Given the description of an element on the screen output the (x, y) to click on. 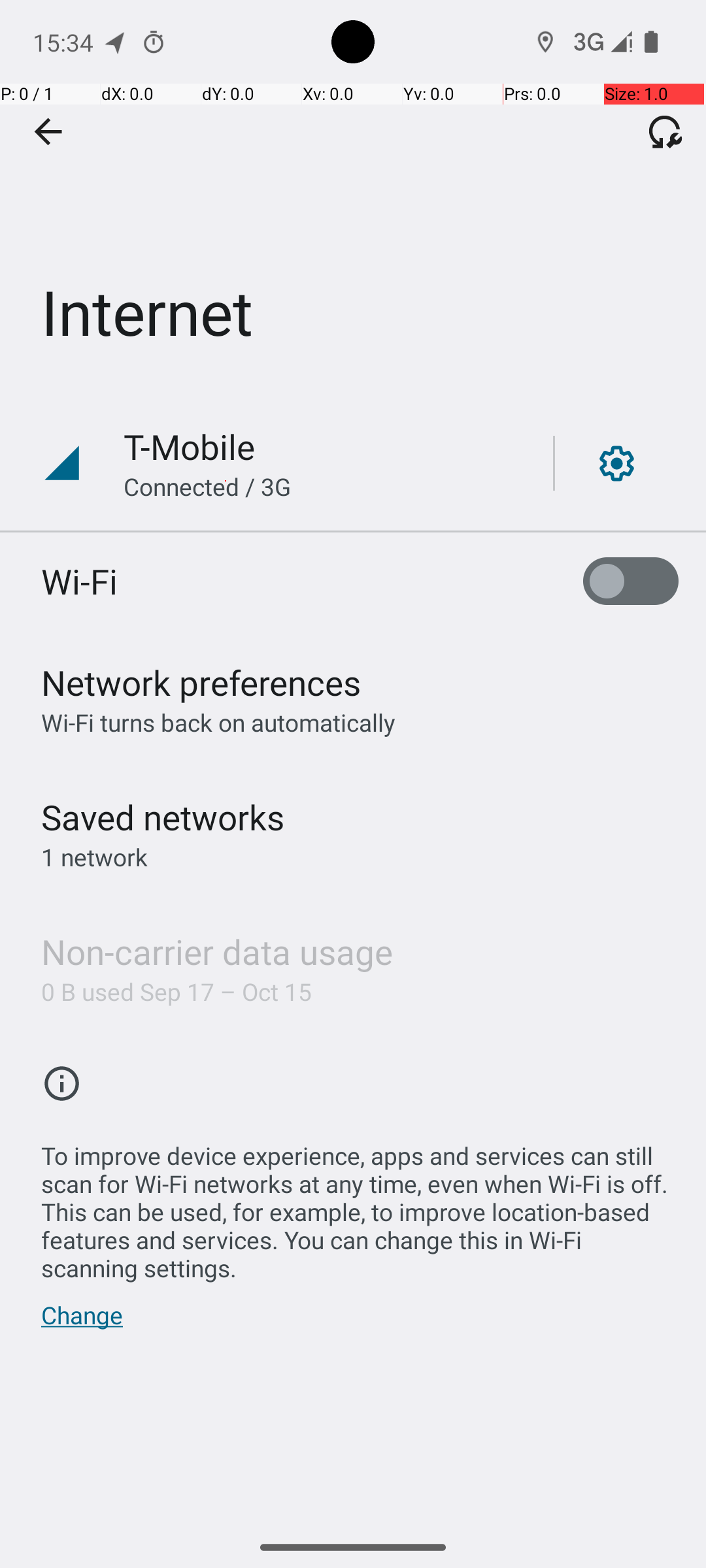
Fix connectivity Element type: android.widget.TextView (664, 131)
Connected / 3G Element type: android.widget.TextView (206, 486)
Network preferences Element type: android.widget.TextView (201, 682)
Wi‑Fi turns back on automatically Element type: android.widget.TextView (218, 721)
Saved networks Element type: android.widget.TextView (163, 816)
1 network Element type: android.widget.TextView (94, 856)
Non-carrier data usage Element type: android.widget.TextView (216, 951)
0 B used Sep 17 – Oct 15 Element type: android.widget.TextView (176, 991)
To improve device experience, apps and services can still scan for Wi‑Fi networks at any time, even when Wi‑Fi is off. This can be used, for example, to improve location-based features and services. You can change this in Wi‑Fi scanning settings. Element type: android.widget.TextView (359, 1204)
Change Element type: android.widget.TextView (81, 1321)
